Given the description of an element on the screen output the (x, y) to click on. 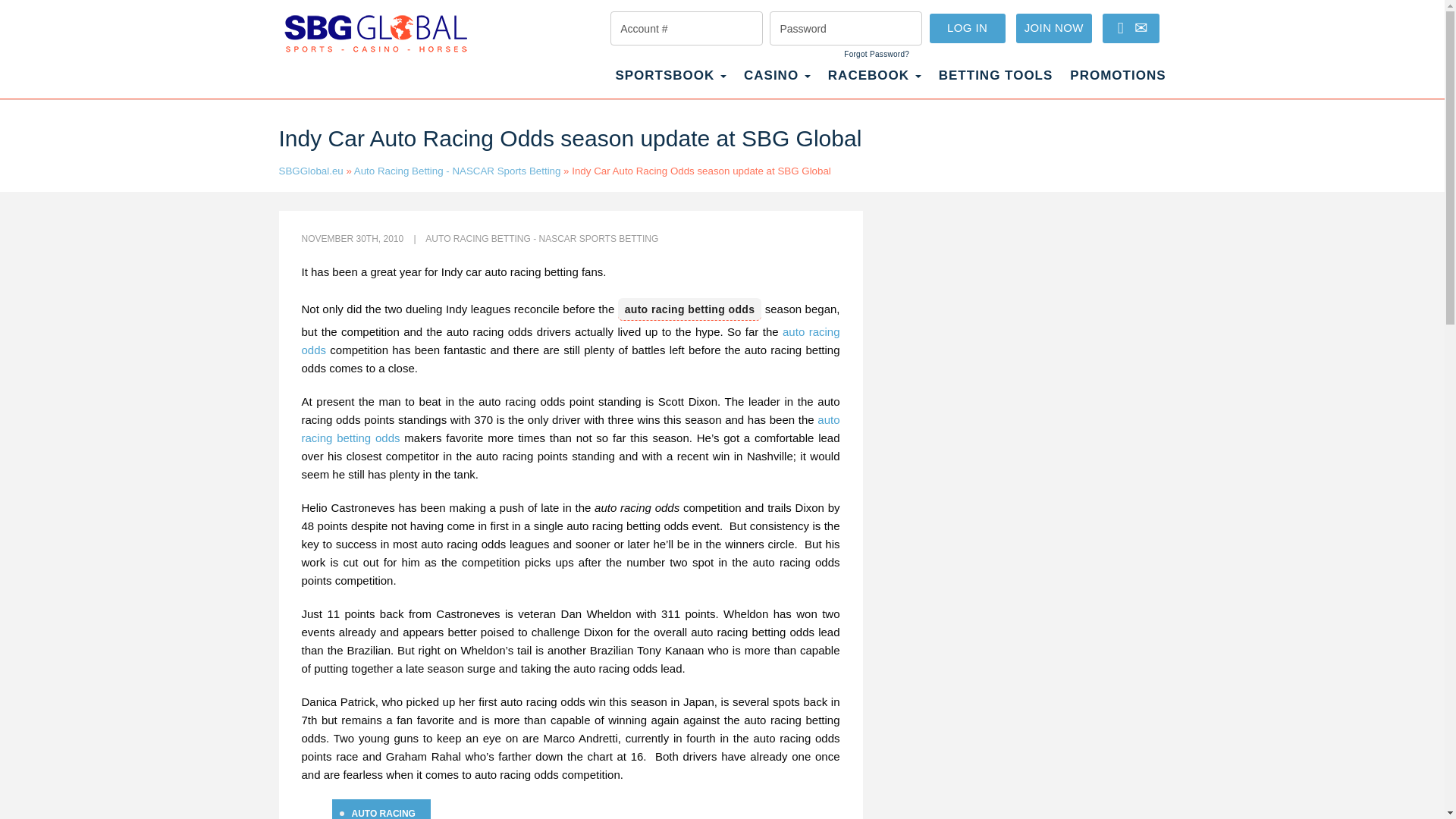
Forgot Password? (876, 53)
LOG IN (968, 28)
Sportsbook (670, 83)
JOIN NOW (1054, 28)
SPORTSBOOK (670, 83)
